Given the description of an element on the screen output the (x, y) to click on. 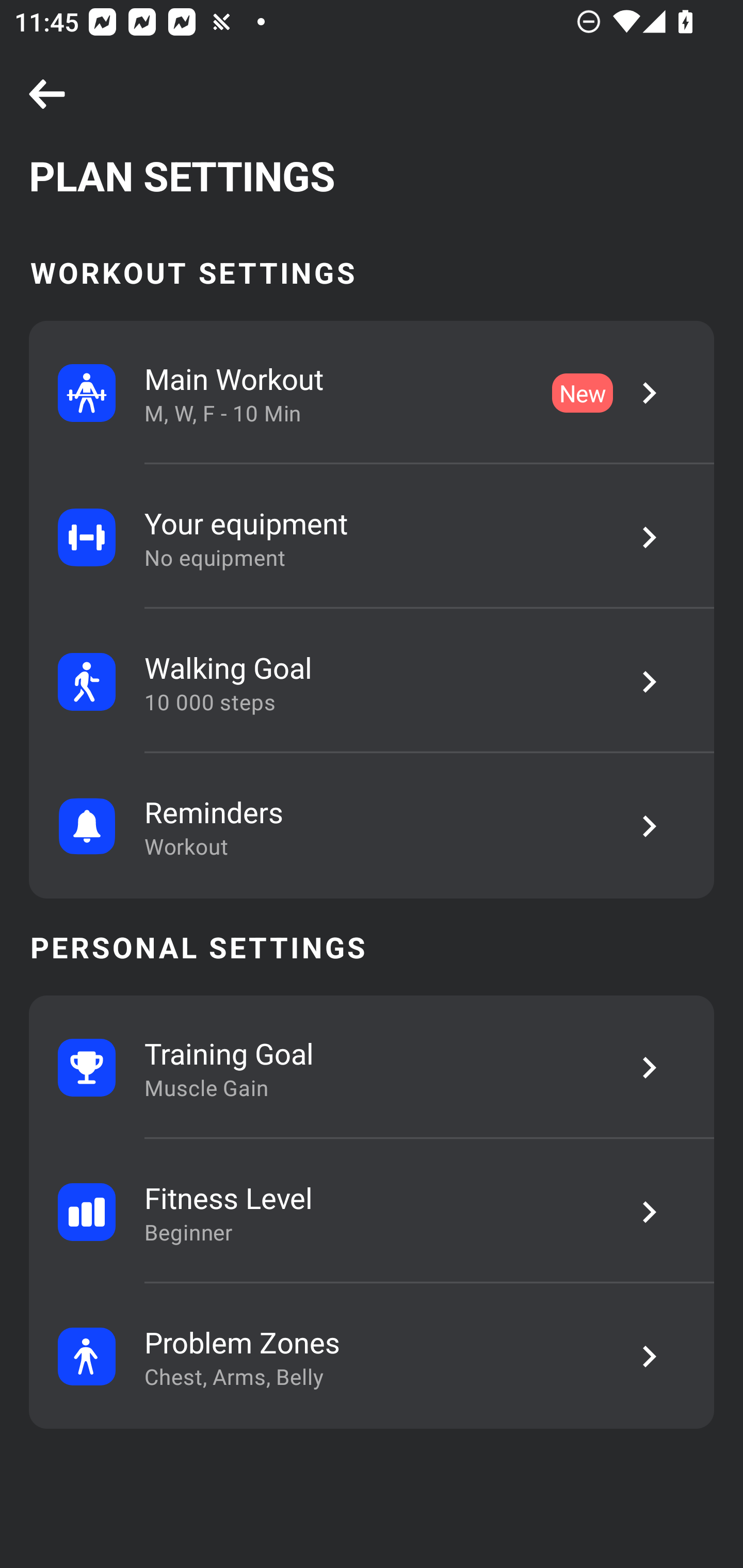
Navigation icon (46, 94)
EQUIPMENT Your equipment No equipment EQUIPMENT (371, 537)
REMINDERS Reminders Workout REMINDERS (371, 826)
FITNESS_LEVEL Fitness Level Beginner FITNESS_LEVEL (371, 1211)
